Given the description of an element on the screen output the (x, y) to click on. 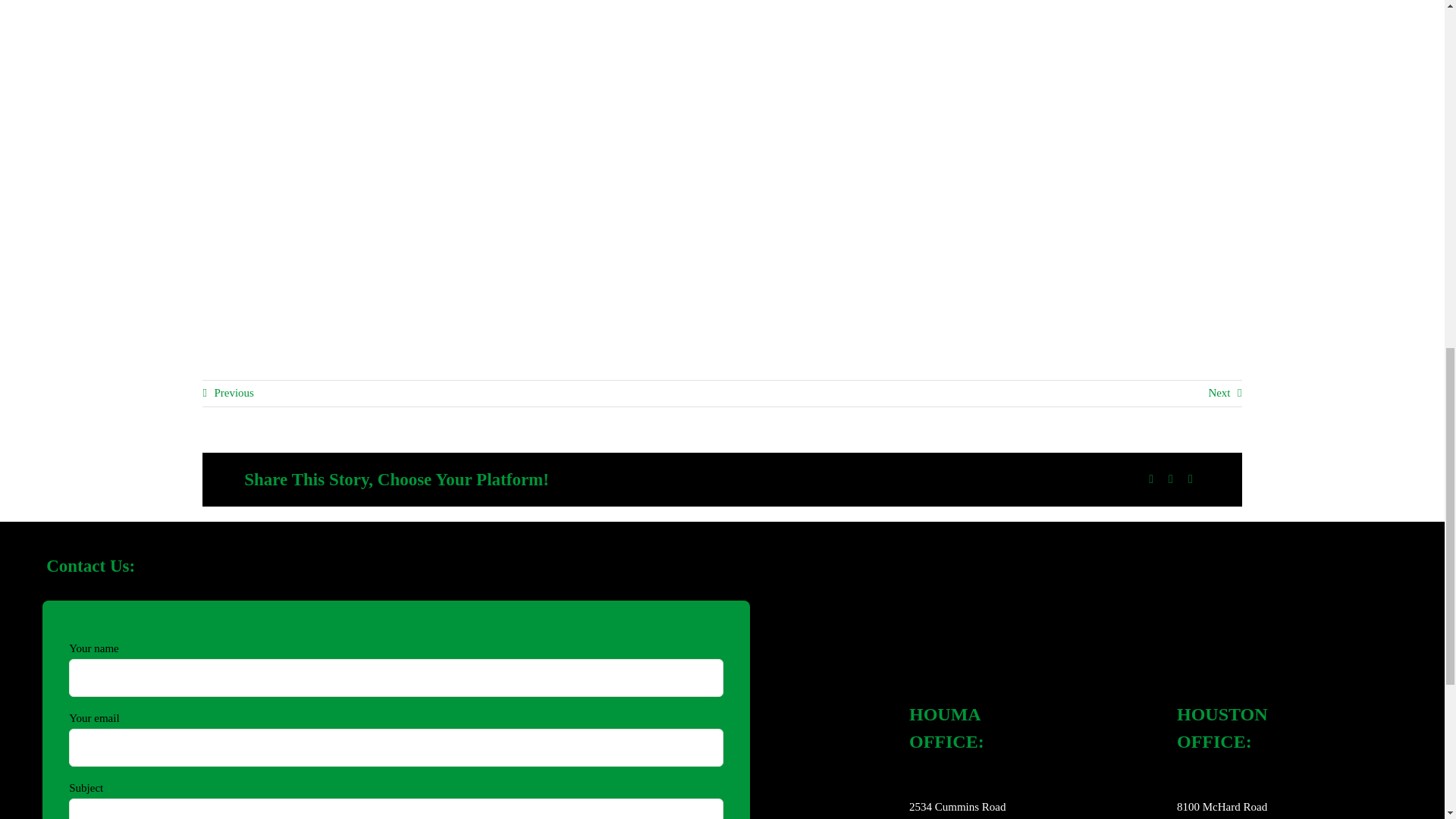
Email (1189, 479)
LinkedIn (1170, 479)
Previous (227, 392)
Facebook (1150, 479)
Next (1224, 392)
